Given the description of an element on the screen output the (x, y) to click on. 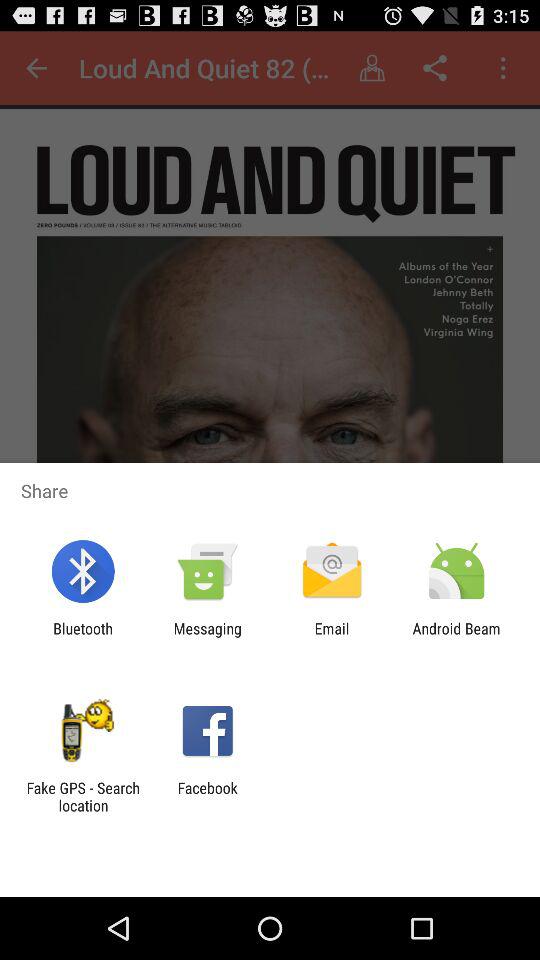
choose the item next to the email (207, 637)
